Given the description of an element on the screen output the (x, y) to click on. 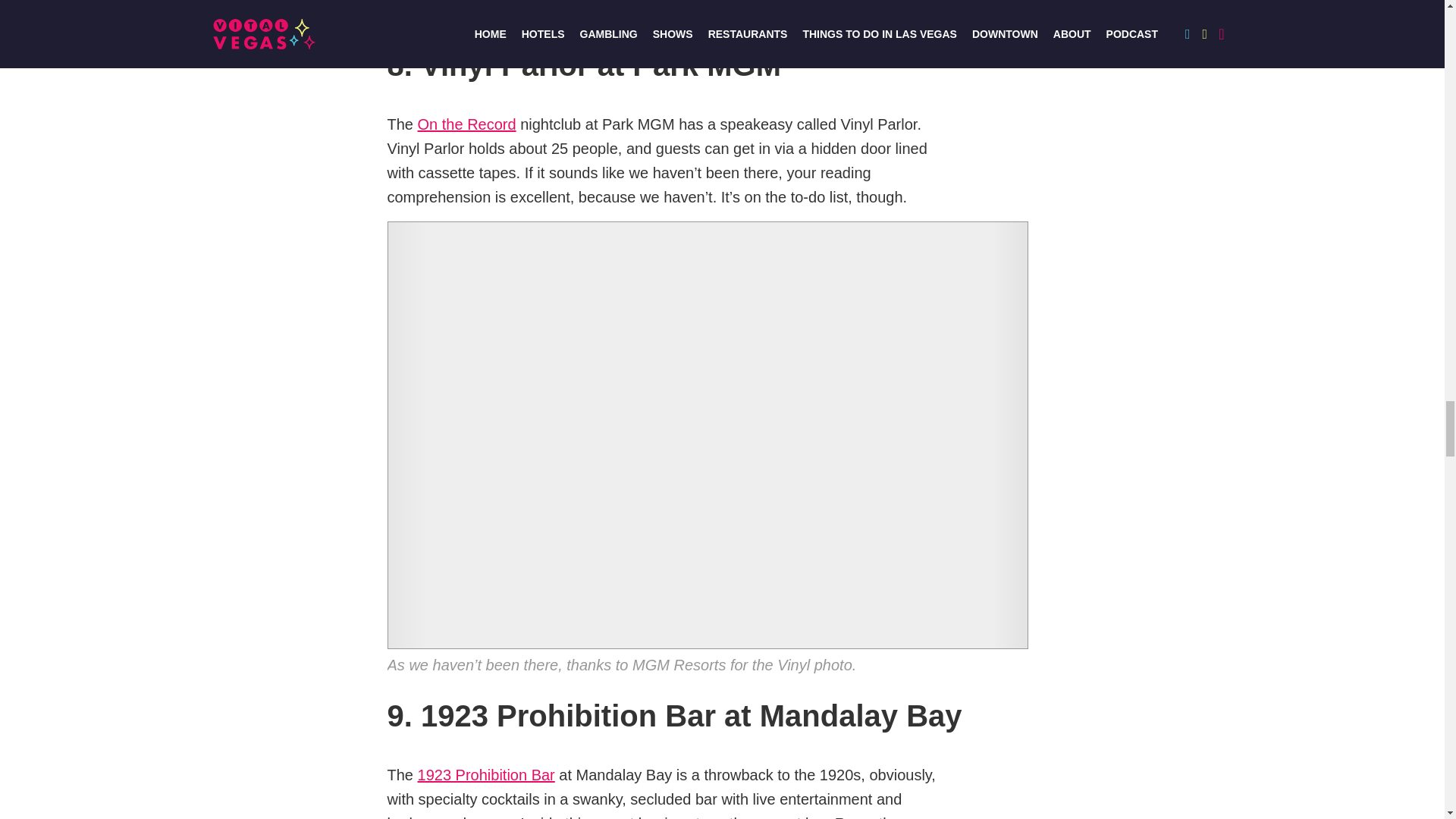
On the Record (466, 124)
1923 Prohibition Bar (485, 775)
